Given the description of an element on the screen output the (x, y) to click on. 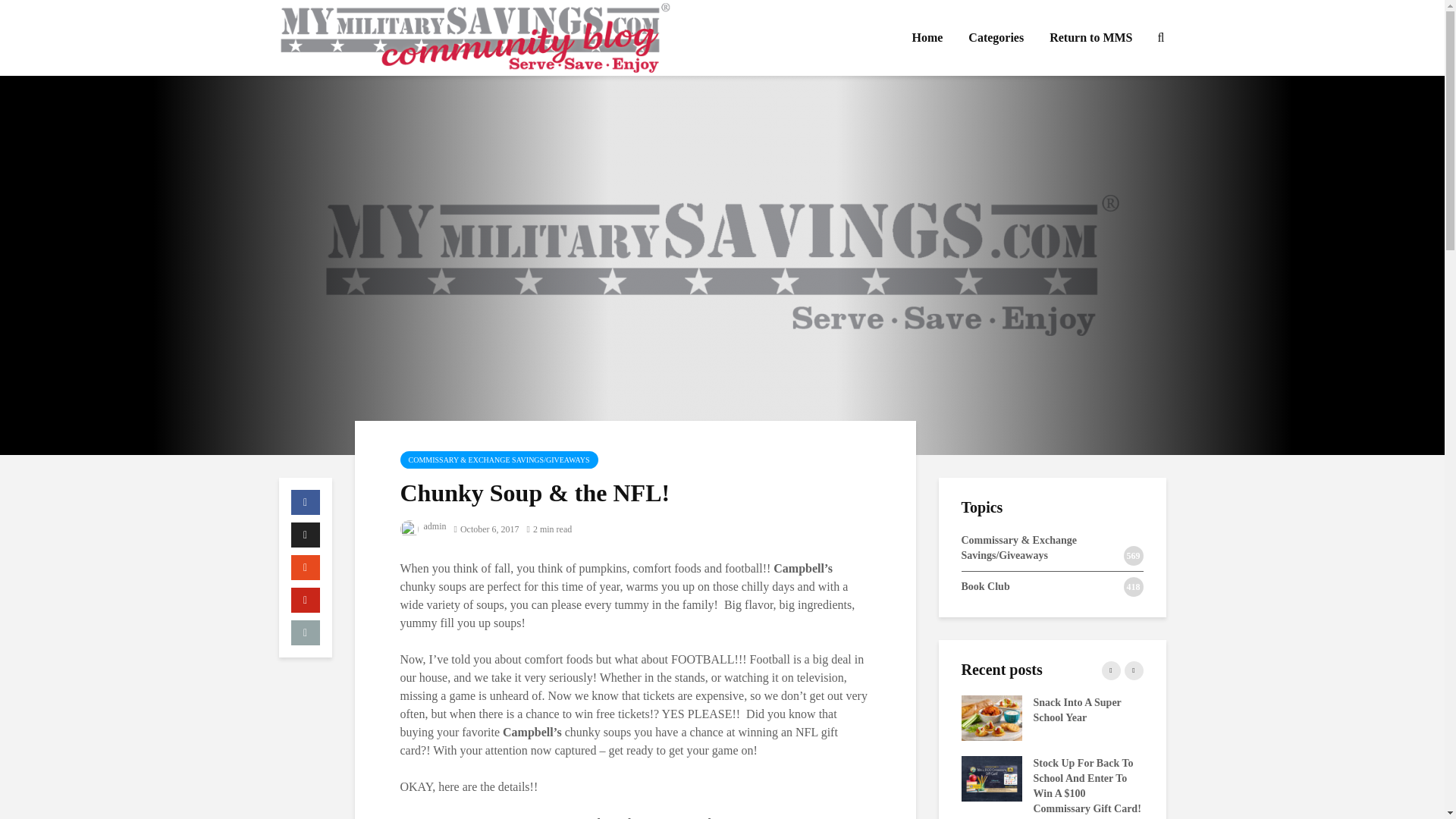
Return to MMS (1090, 37)
Snack Into A Super School Year (991, 716)
Home (926, 37)
admin (423, 525)
Categories (995, 37)
4th of July Party Drink (809, 716)
4th of July Party Drink (1355, 716)
